Given the description of an element on the screen output the (x, y) to click on. 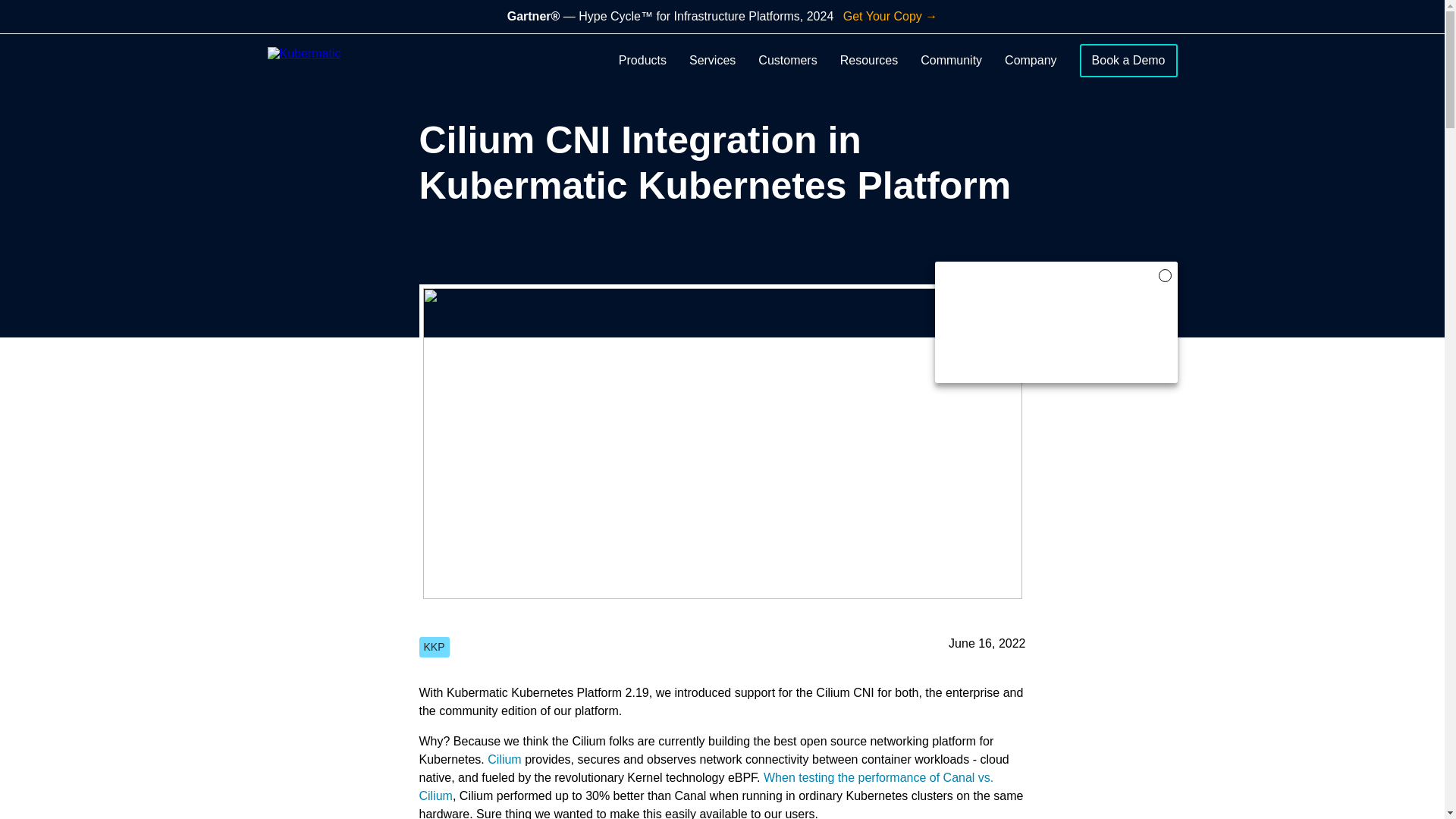
Products (642, 60)
